Given the description of an element on the screen output the (x, y) to click on. 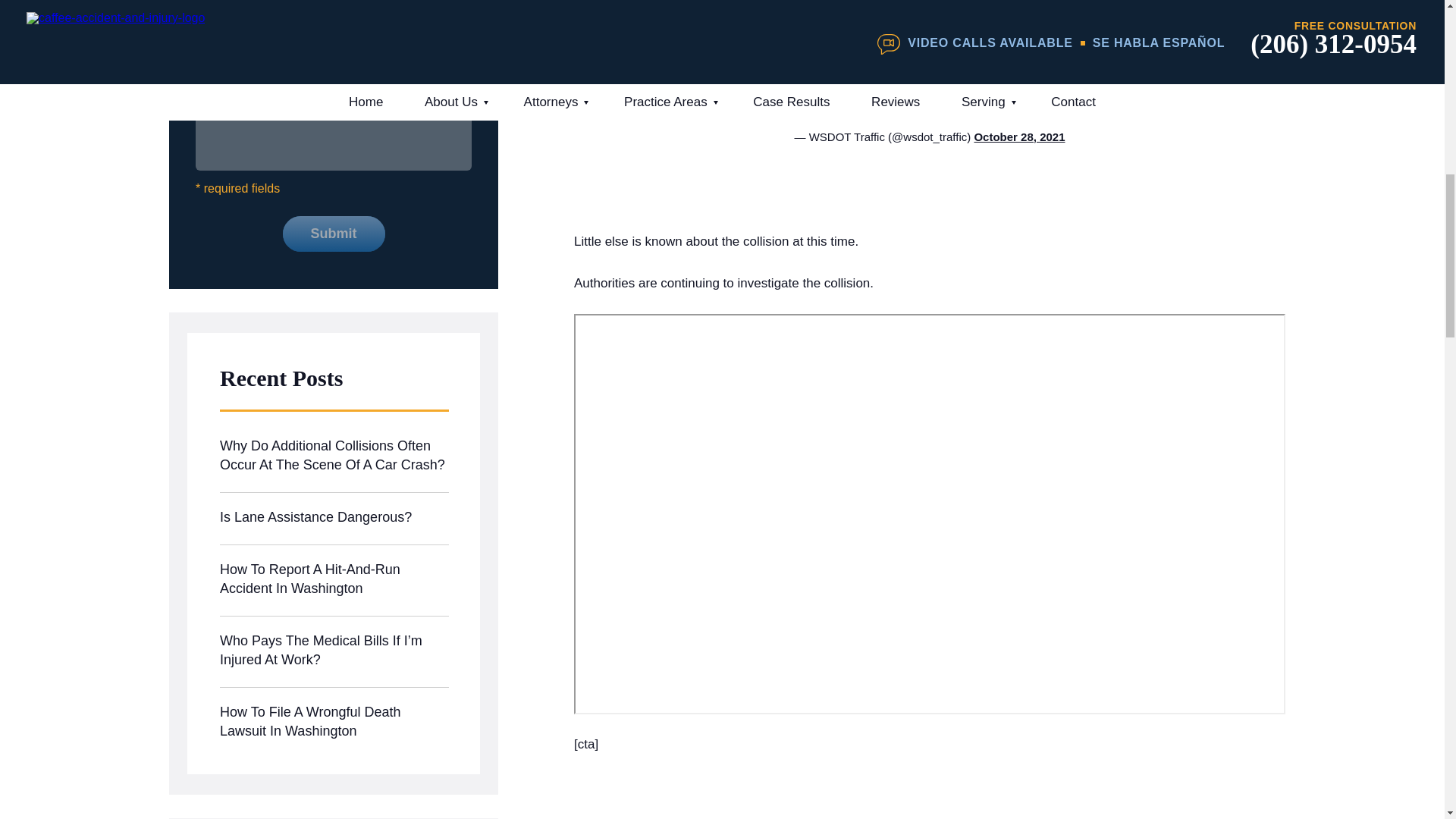
Submit (333, 233)
How To Report A Hit-And-Run Accident In Washington (333, 580)
How To File A Wrongful Death Lawsuit In Washington (333, 722)
October 28, 2021 (1019, 136)
Is Lane Assistance Dangerous? (333, 518)
